Given the description of an element on the screen output the (x, y) to click on. 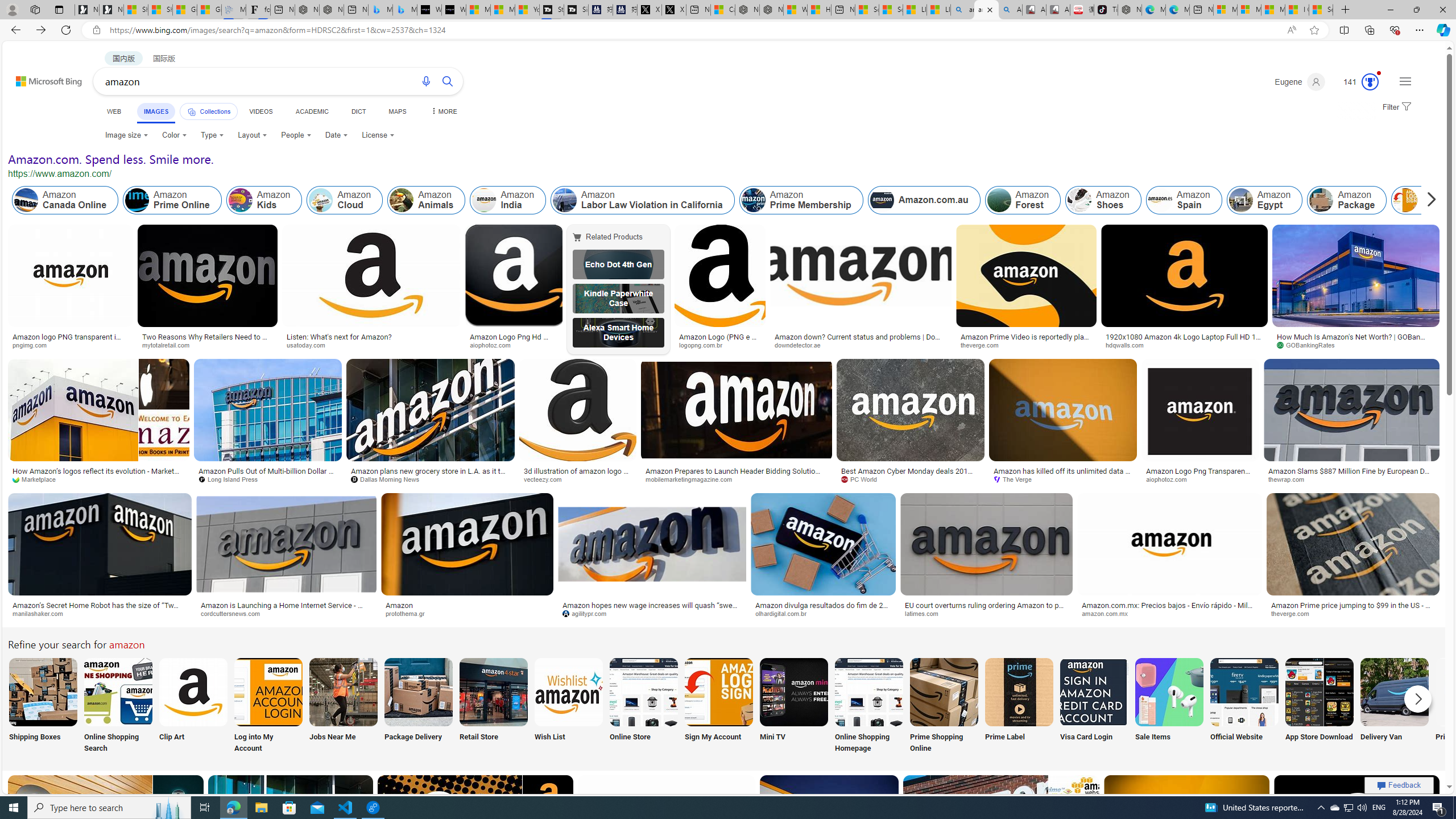
Online Store (644, 706)
Date (336, 135)
cordcuttersnews.com (285, 613)
X (673, 9)
Amazon Logo (PNG e SVG) Download Vetorial Transparente (719, 340)
Amazon Spain (1183, 199)
Type (212, 135)
VIDEOS (260, 111)
People (295, 135)
The Verge (1015, 479)
